Given the description of an element on the screen output the (x, y) to click on. 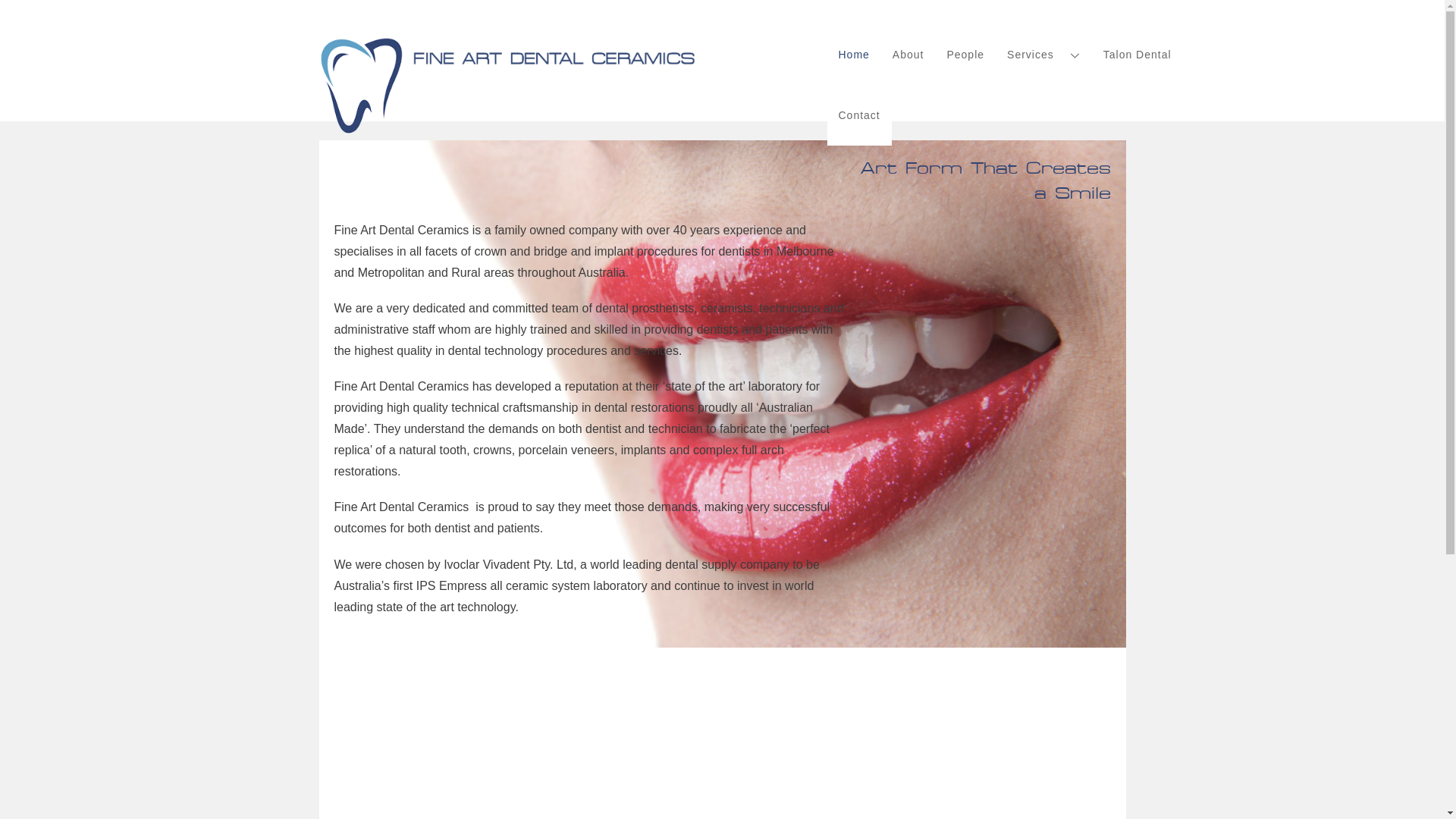
Fine Art Dental Ceramics Element type: hover (507, 128)
admin@fineartdental.com.au Element type: text (719, 768)
Talon Dental Element type: text (1137, 54)
Home Element type: text (853, 54)
About Element type: text (908, 54)
Contact Element type: text (858, 114)
Services Element type: text (1043, 54)
logo_banner_e Element type: hover (507, 86)
People Element type: text (965, 54)
